Given the description of an element on the screen output the (x, y) to click on. 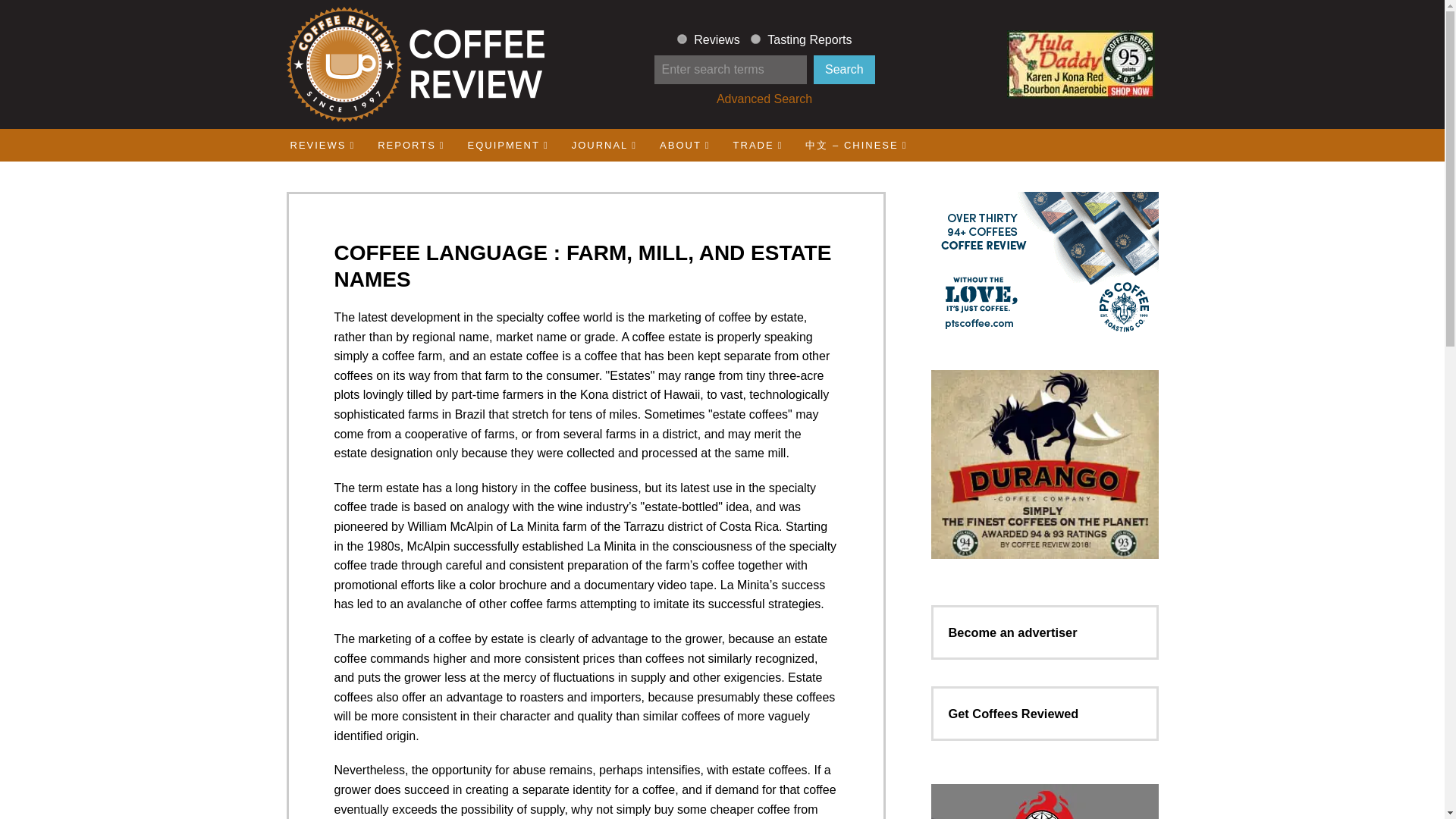
review (682, 39)
Get coffees reviewed (1012, 713)
Search (844, 69)
Search (844, 69)
Search (844, 69)
EQUIPMENT (508, 144)
ABOUT (684, 144)
COFFEE REVIEW (414, 64)
JOURNAL (603, 144)
